Given the description of an element on the screen output the (x, y) to click on. 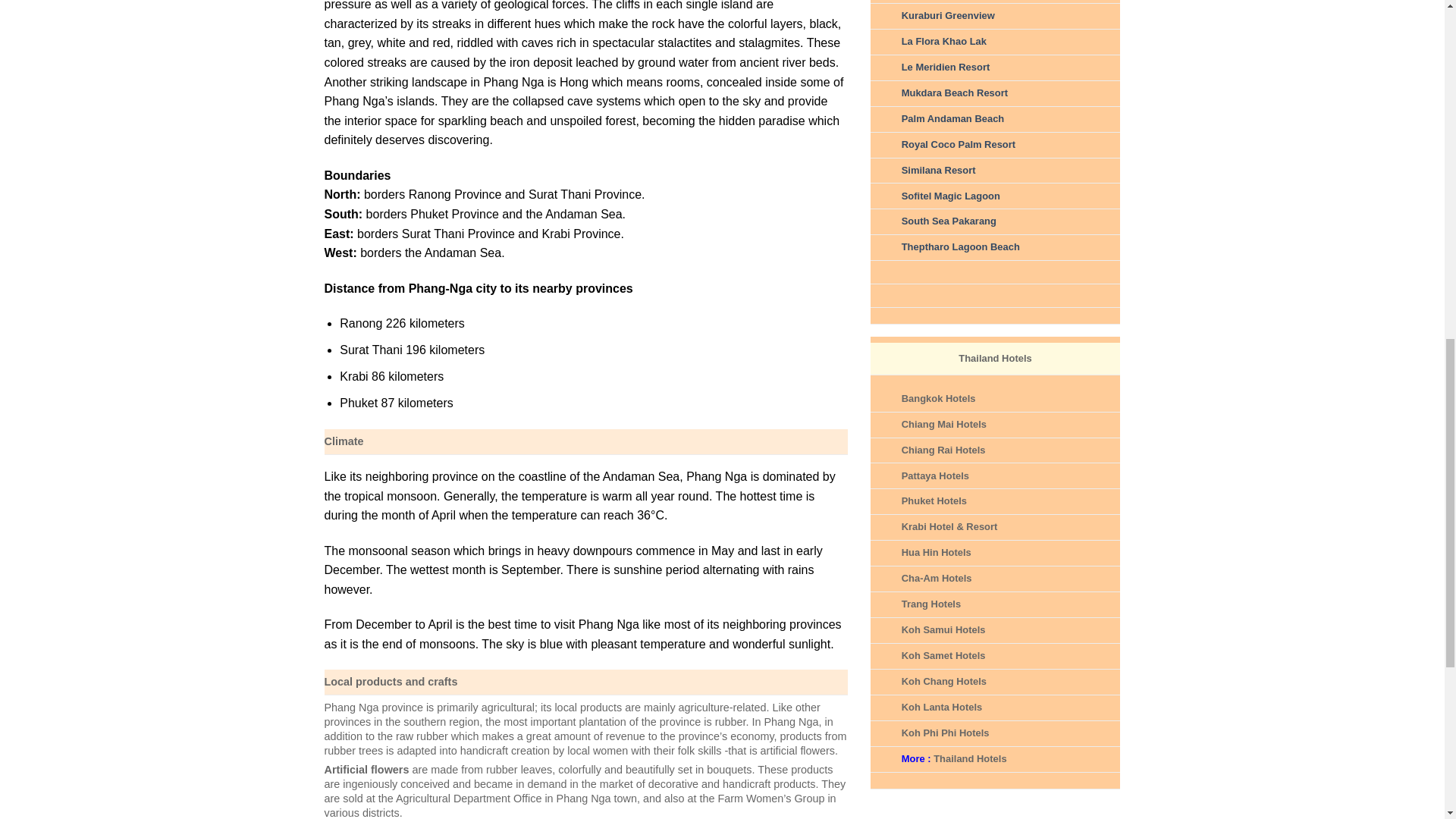
Kuraburi Greenview (947, 15)
Royal Coco Palm Resort (957, 143)
Mukdara Beach Resort (954, 92)
La Flora Khao Lak (944, 41)
Le Meridien Resort (945, 66)
Palm Andaman Beach (952, 118)
